Given the description of an element on the screen output the (x, y) to click on. 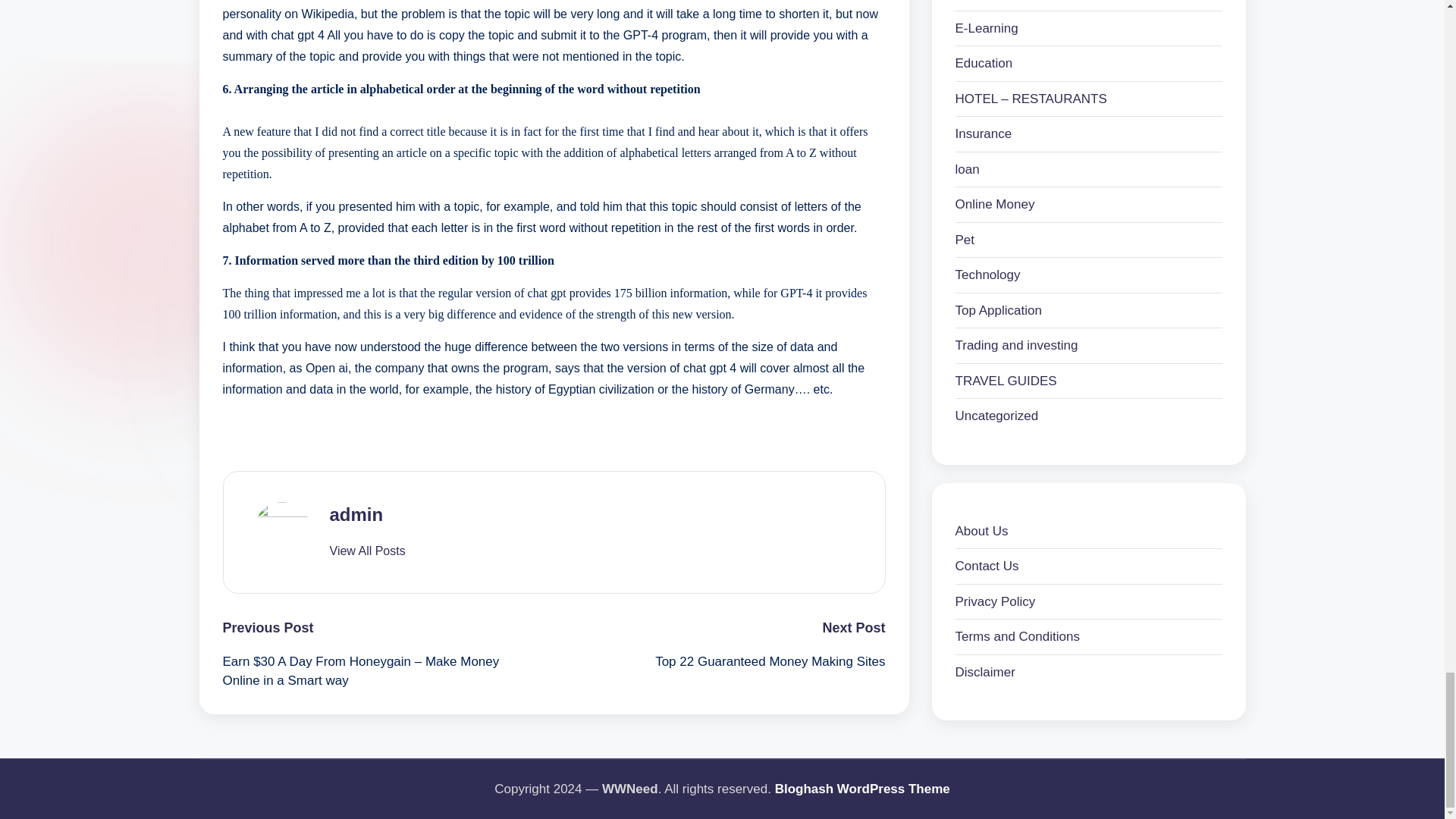
admin (355, 514)
View All Posts (366, 550)
Top 22 Guaranteed Money Making Sites (719, 661)
